Given the description of an element on the screen output the (x, y) to click on. 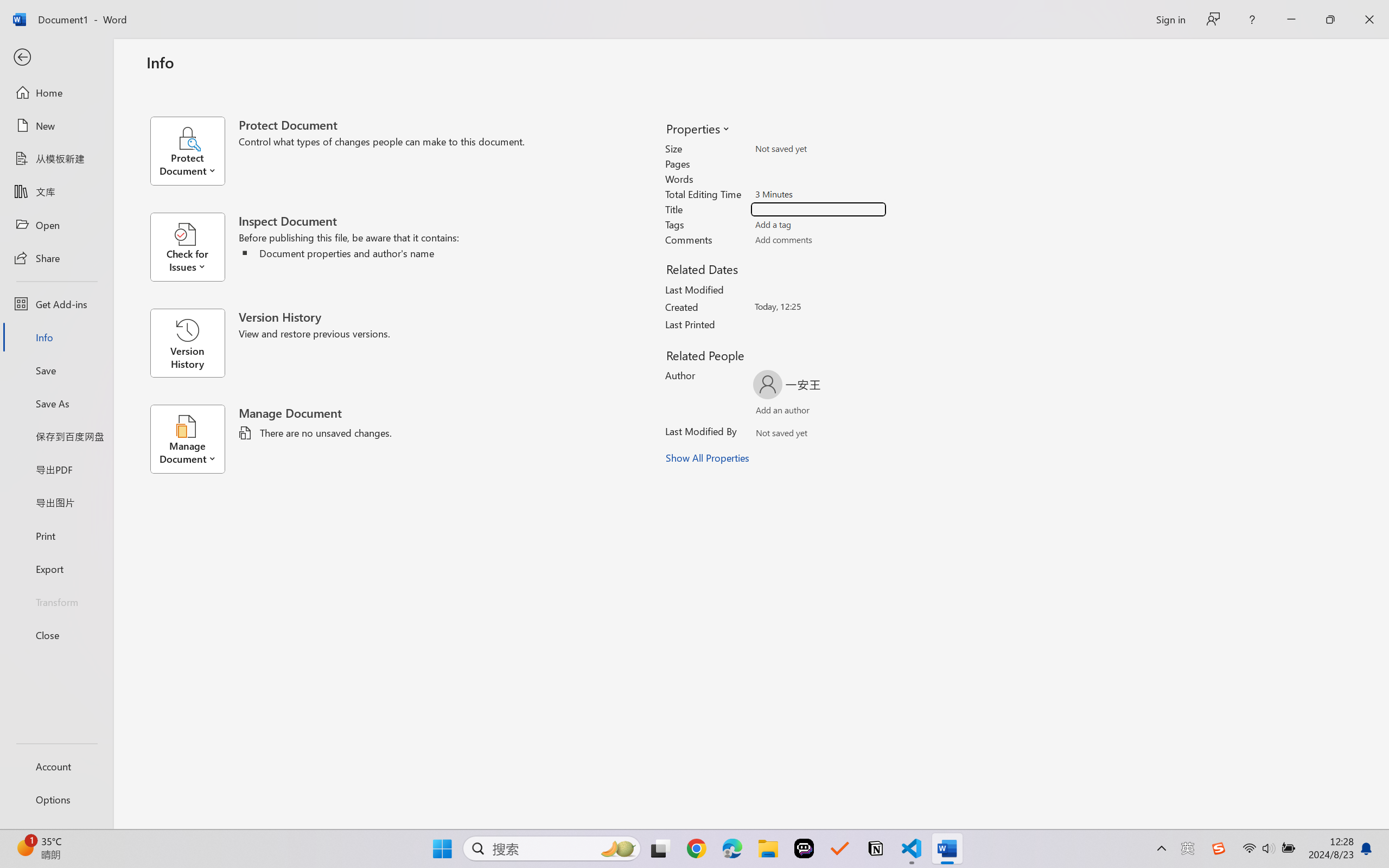
Print (56, 535)
Tags (818, 223)
Show All Properties (707, 457)
Get Add-ins (56, 303)
Browse Address Book (852, 435)
